Given the description of an element on the screen output the (x, y) to click on. 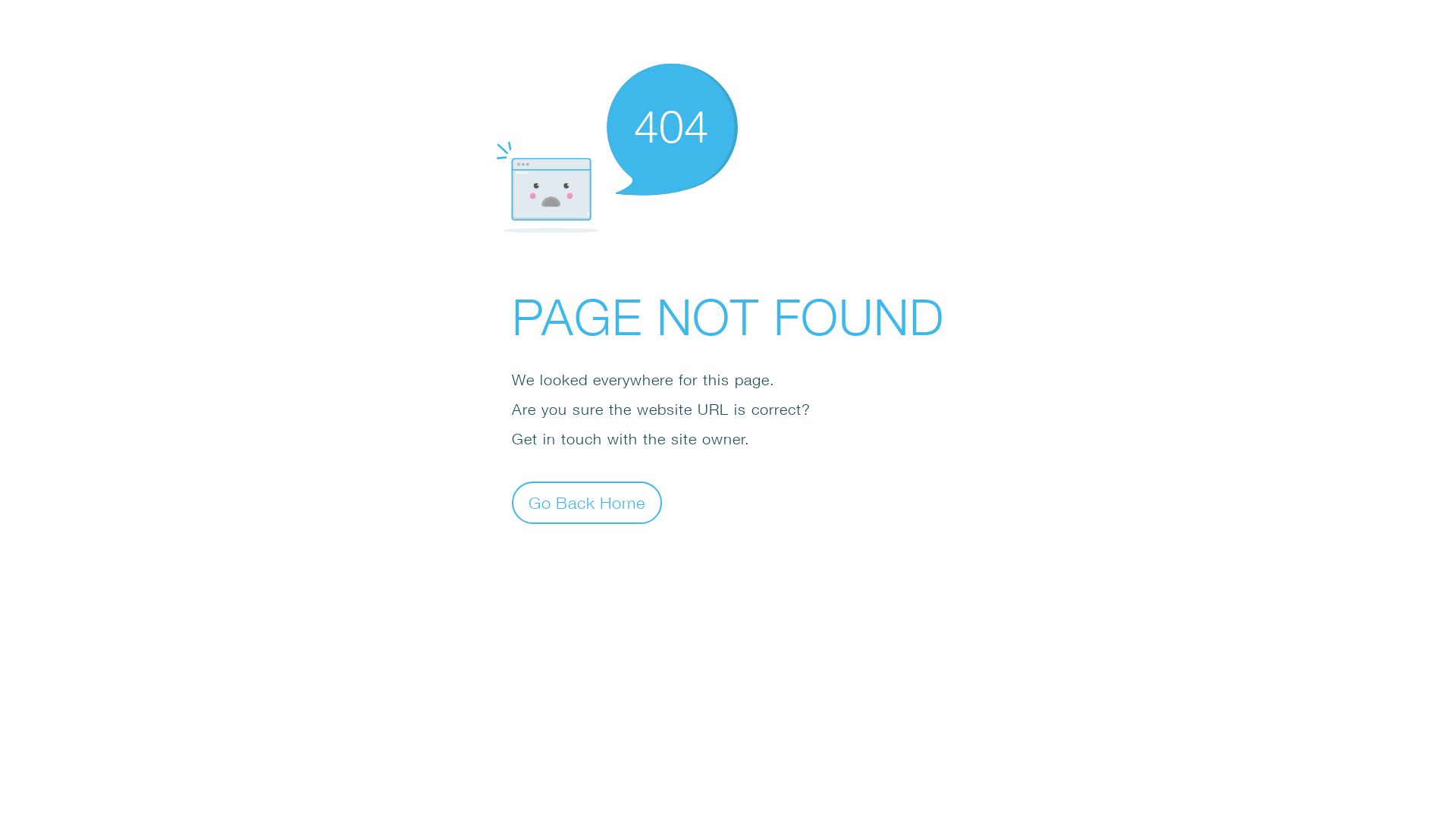
Go Back Home Element type: text (586, 502)
